Given the description of an element on the screen output the (x, y) to click on. 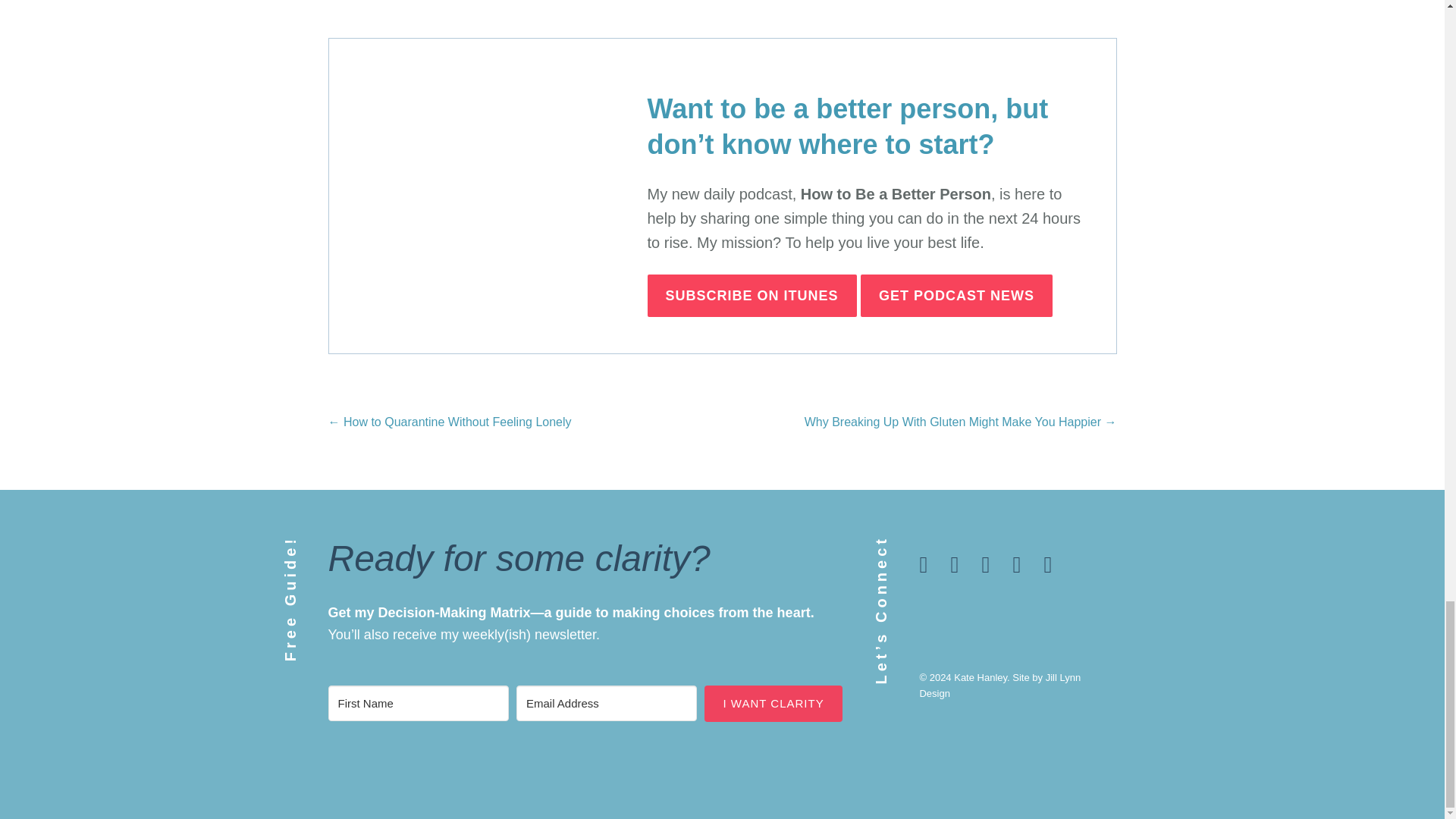
GET PODCAST NEWS (956, 295)
SUBSCRIBE ON ITUNES (752, 295)
Atlanta WordPress Developer (999, 685)
Site by Jill Lynn Design (999, 685)
I WANT CLARITY (772, 703)
